Given the description of an element on the screen output the (x, y) to click on. 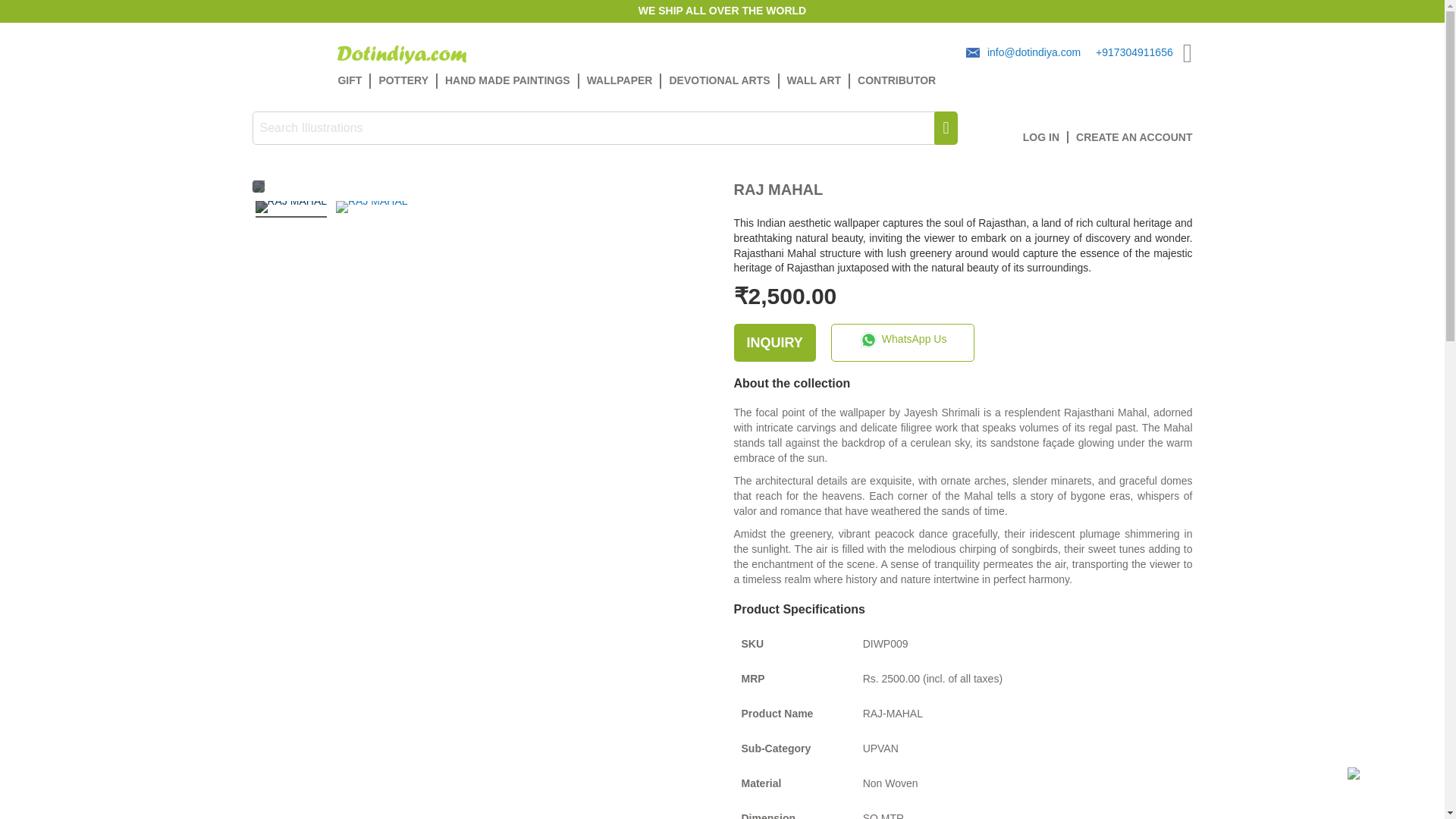
LOG IN (1045, 137)
HAND MADE PAINTINGS (508, 80)
DEVOTIONAL ARTS (719, 80)
WALL ART (814, 80)
GIFT (354, 80)
CREATE AN ACCOUNT (1133, 137)
POTTERY (404, 80)
CONTRIBUTOR (896, 80)
RAJ MAHAL  (371, 208)
RAJ MAHAL  (290, 208)
